Given the description of an element on the screen output the (x, y) to click on. 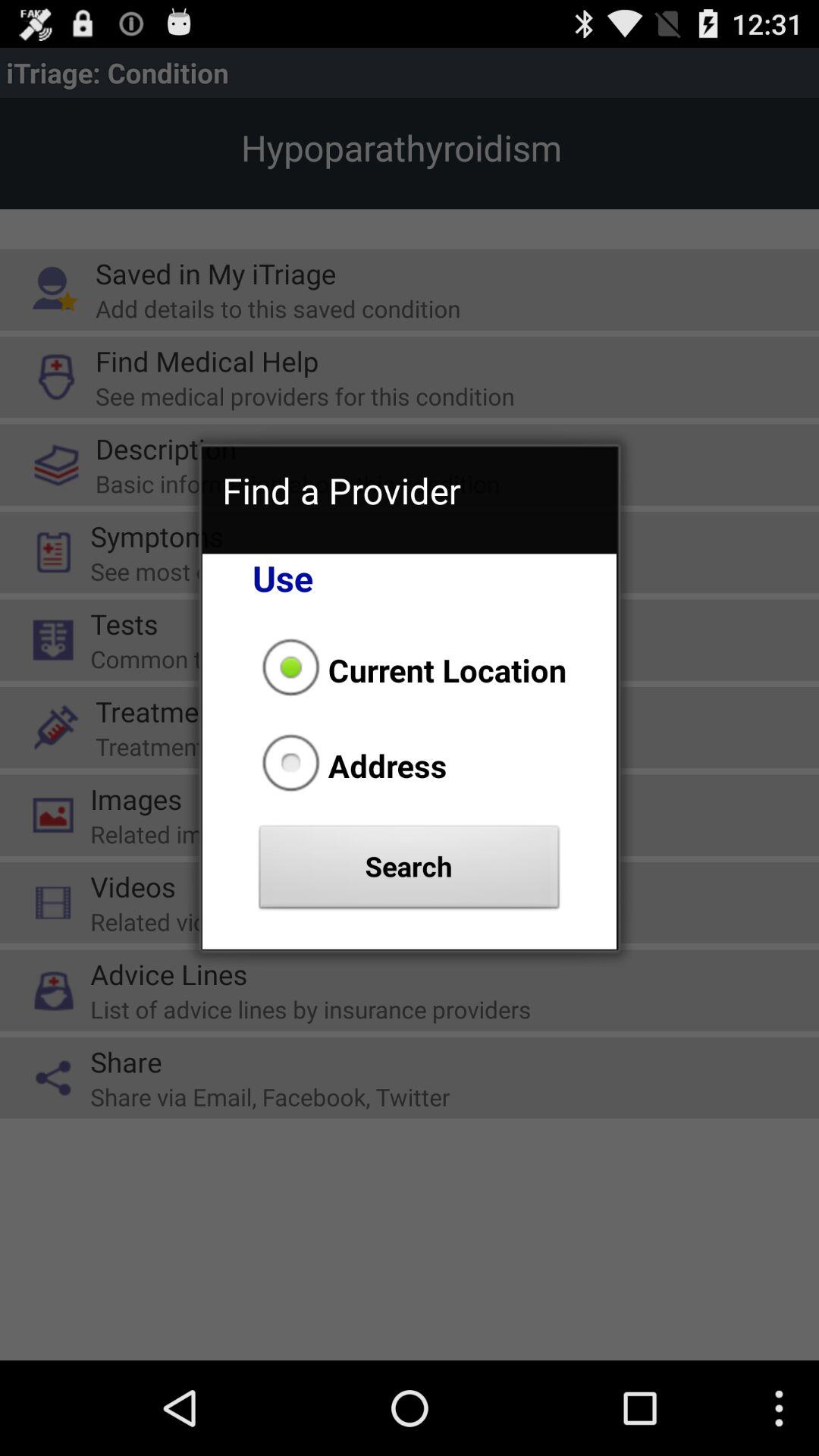
choose current location item (409, 669)
